Given the description of an element on the screen output the (x, y) to click on. 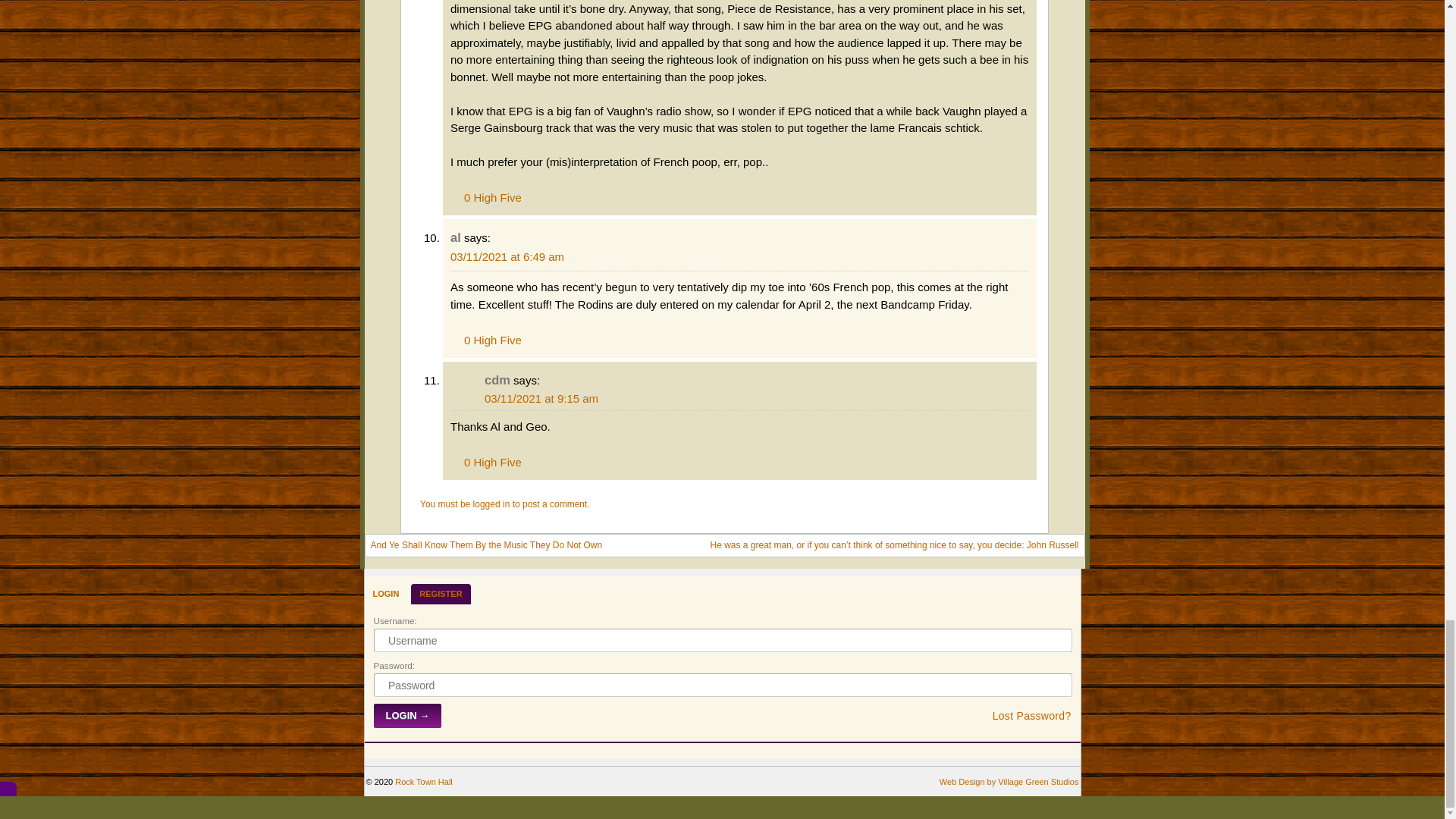
LOGIN (385, 593)
0 High Five (485, 195)
REGISTER (440, 593)
And Ye Shall Know Them By the Music They Do Not Own (485, 545)
0 High Five (485, 337)
0 High Five (485, 460)
Lost Password? (1031, 714)
You must be logged in to post a comment. (504, 503)
